Given the description of an element on the screen output the (x, y) to click on. 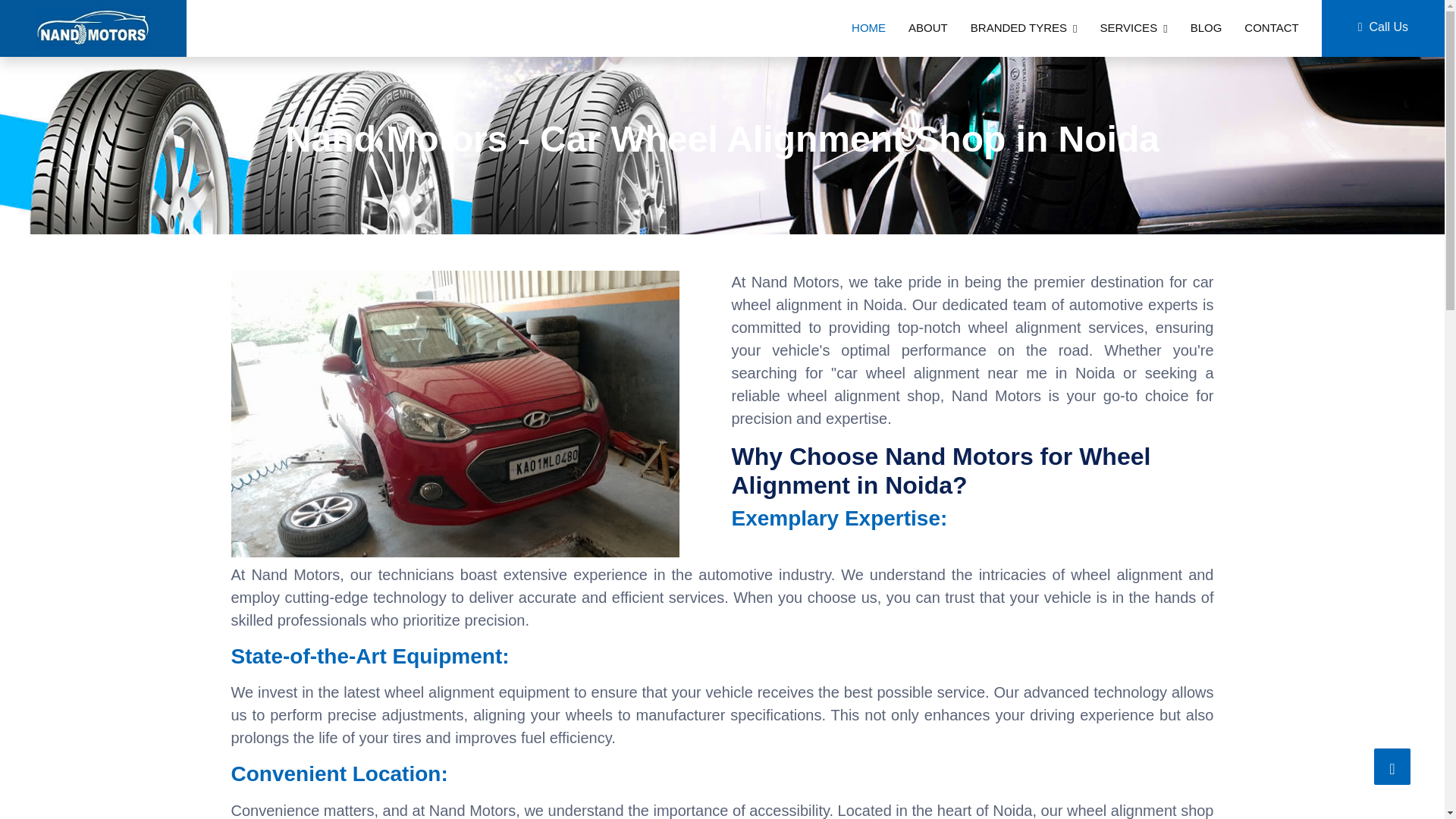
BRANDED TYRES (1024, 28)
CONTACT (1271, 28)
SERVICES (1133, 28)
